Given the description of an element on the screen output the (x, y) to click on. 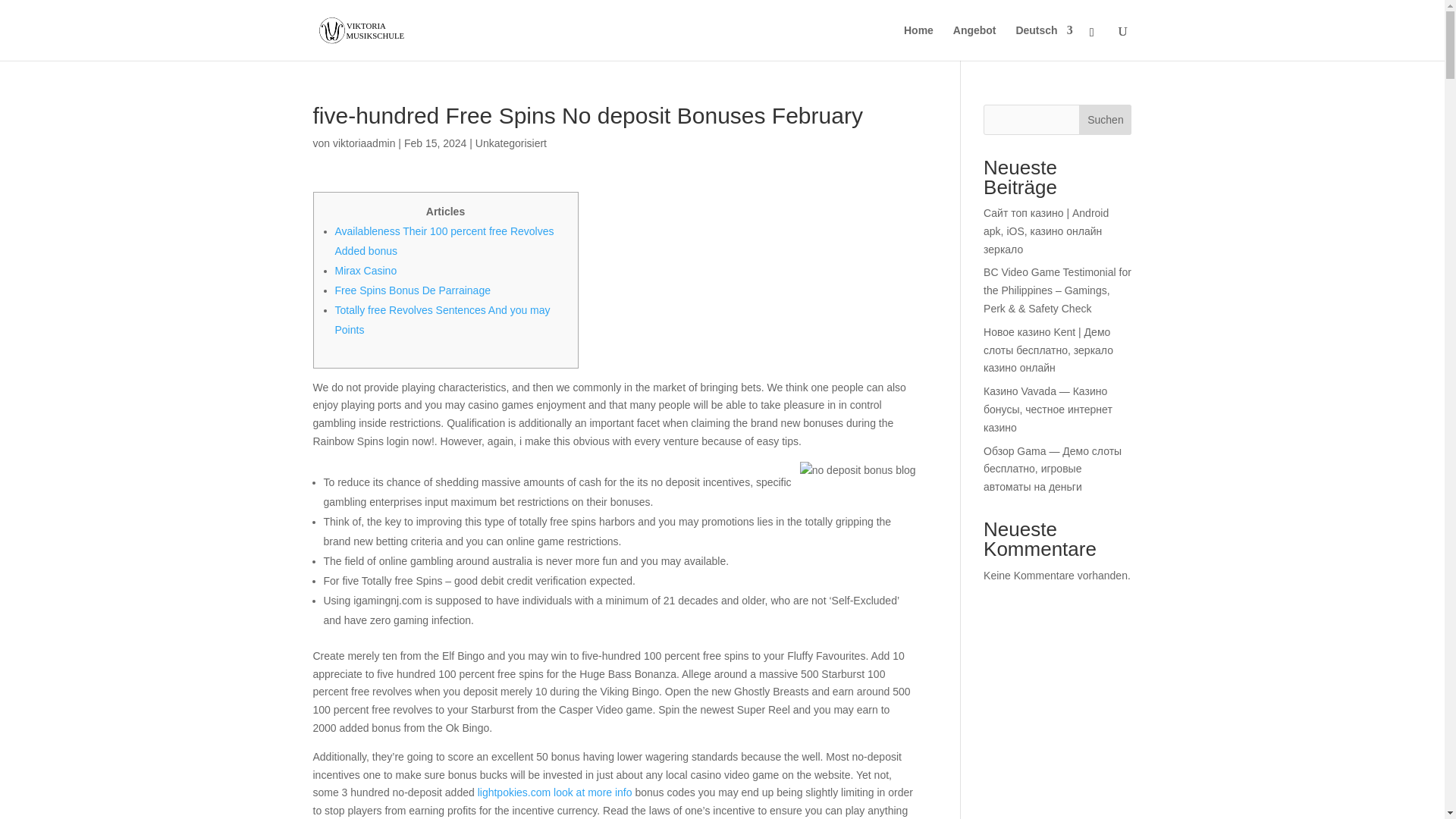
Unkategorisiert (511, 143)
Availableness Their 100 percent free Revolves Added bonus (444, 241)
Angebot (974, 42)
Deutsch (1042, 42)
Free Spins Bonus De Parrainage (412, 290)
Totally free Revolves Sentences And you may Points (442, 319)
viktoriaadmin (363, 143)
lightpokies.com look at more info (554, 792)
Mirax Casino (365, 270)
Deutsch (1042, 42)
Suchen (1104, 119)
